Given the description of an element on the screen output the (x, y) to click on. 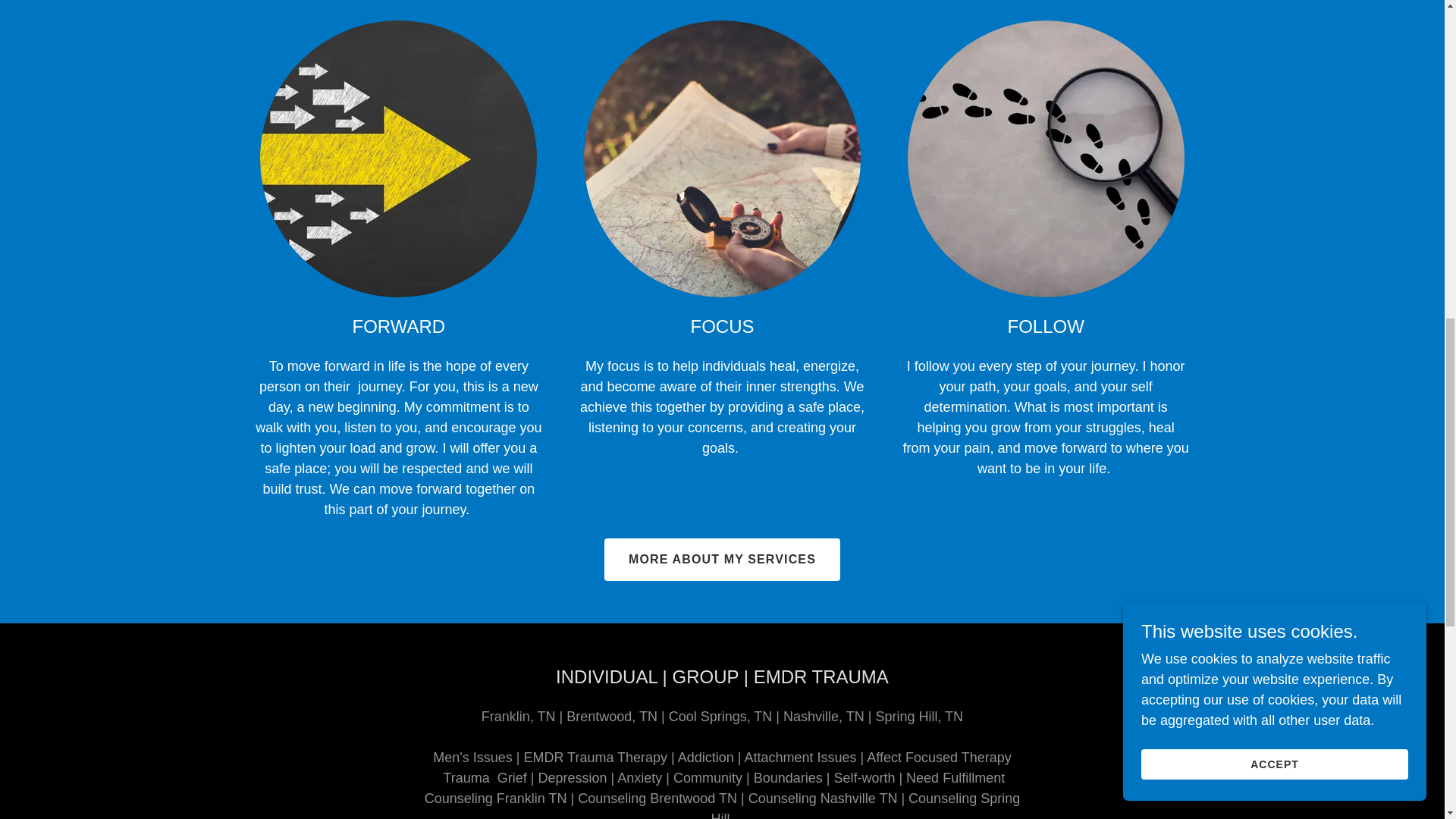
MORE ABOUT MY SERVICES (722, 559)
